Given the description of an element on the screen output the (x, y) to click on. 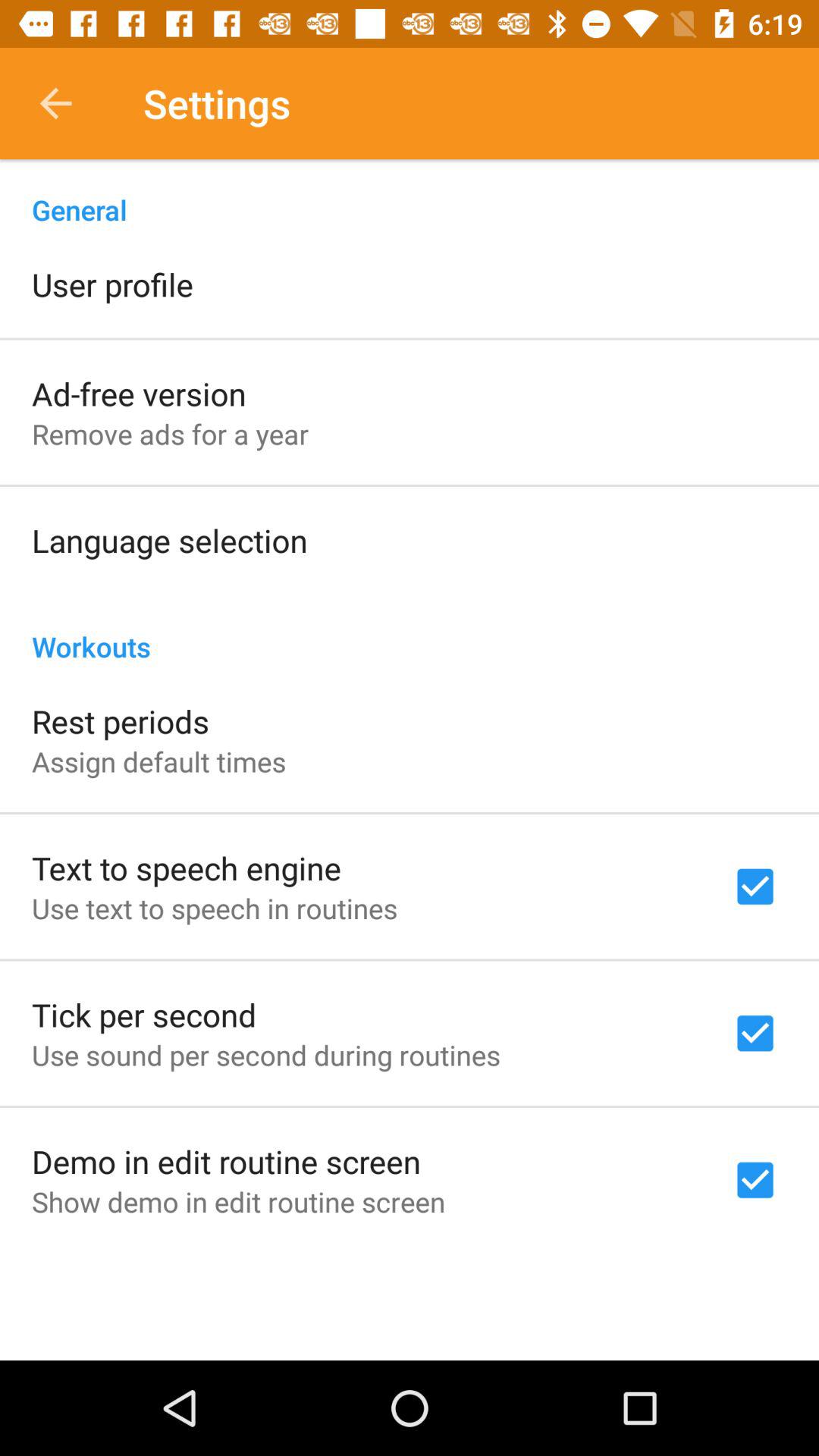
open item above the workouts icon (169, 539)
